Given the description of an element on the screen output the (x, y) to click on. 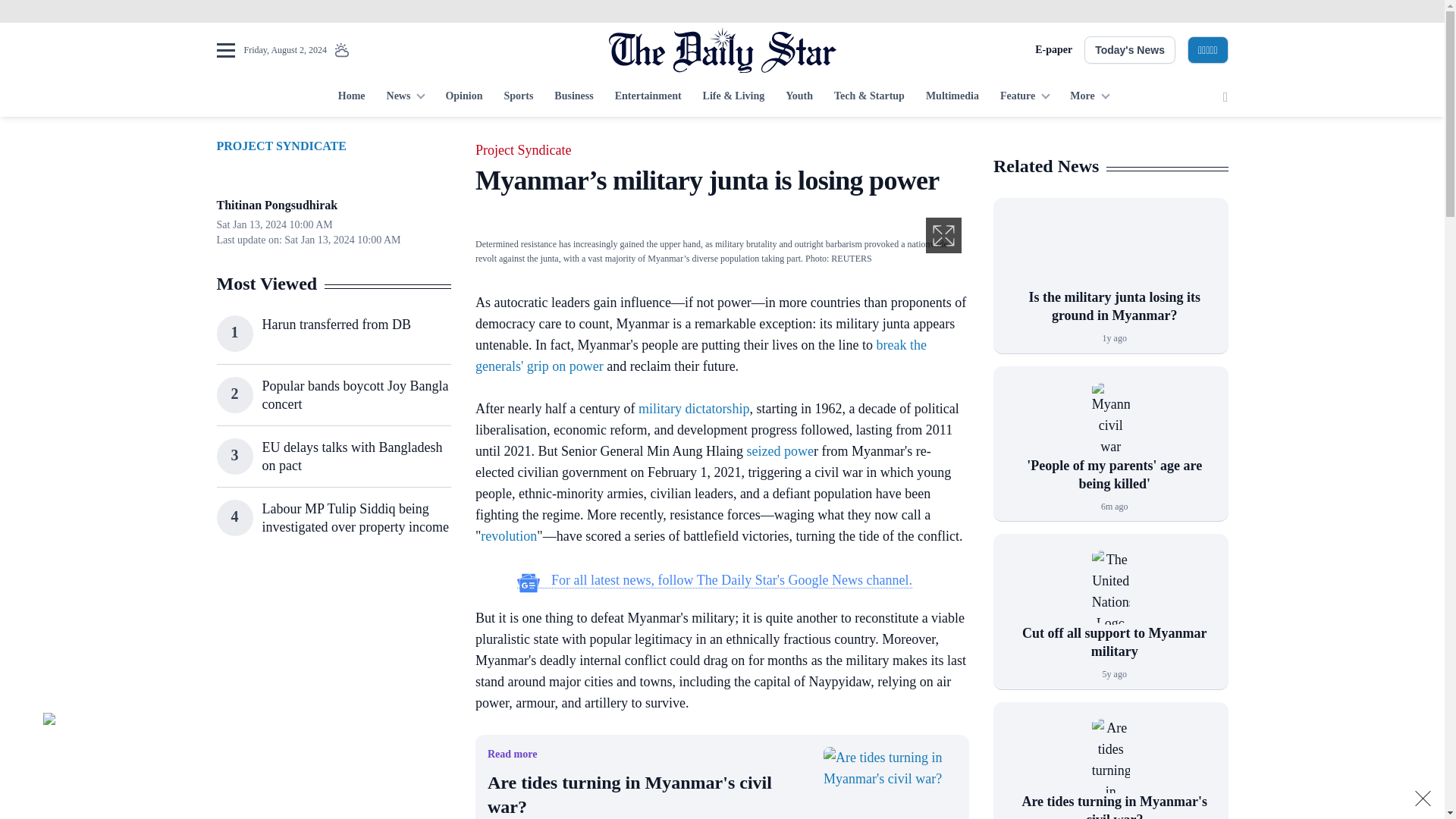
News (405, 96)
Opinion (463, 96)
Sports (518, 96)
Entertainment (647, 96)
Youth (799, 96)
E-paper (1053, 49)
The United Nations Logo (1110, 586)
Multimedia (952, 96)
Home (351, 96)
Myanmar civil war (1110, 419)
Business (573, 96)
Today's News (1129, 49)
Feature (1024, 96)
